Given the description of an element on the screen output the (x, y) to click on. 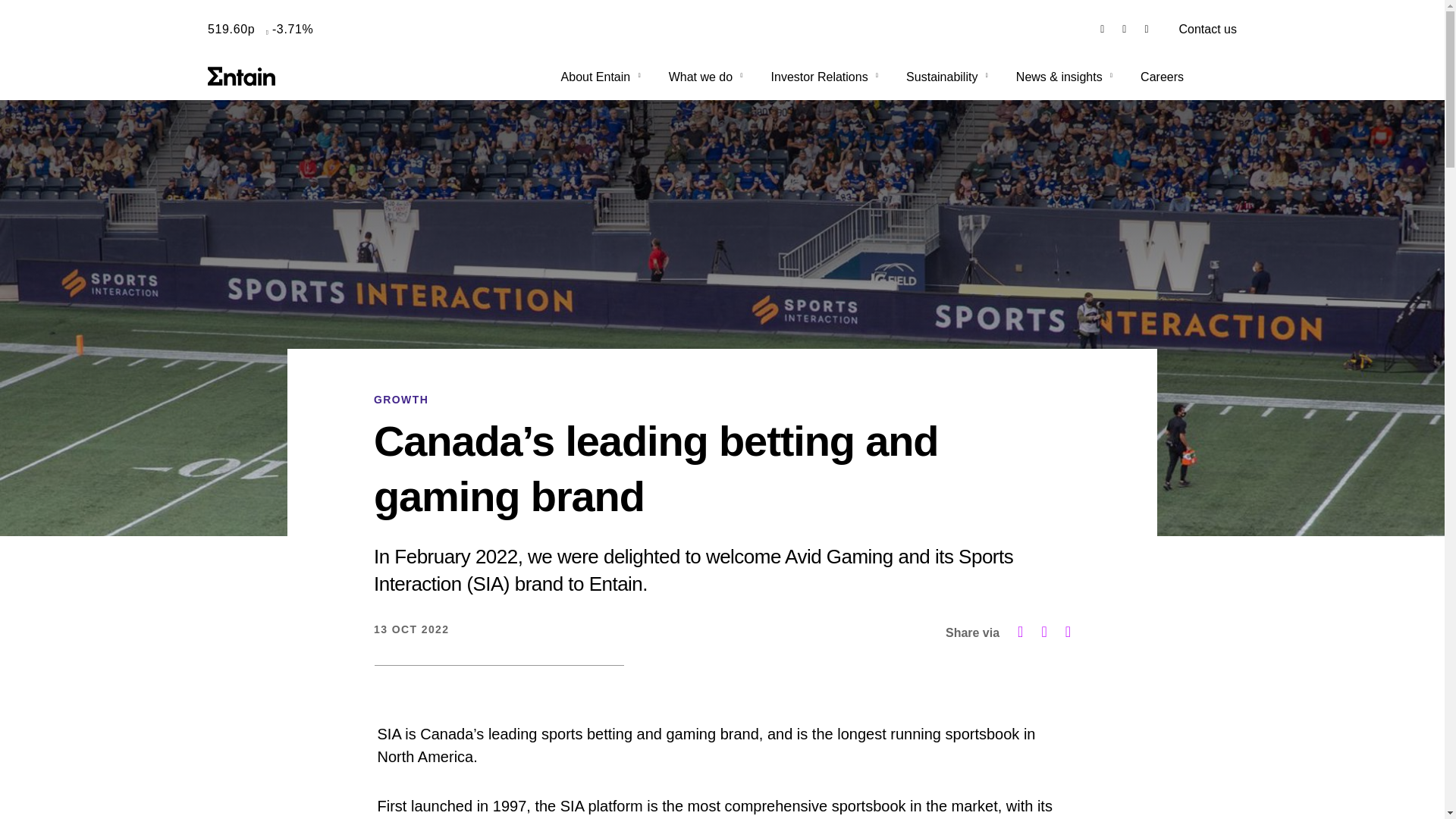
About Entain (602, 76)
Investor Relations (826, 76)
Go to homepage (242, 76)
Contact us (1207, 29)
What we do (707, 76)
